Given the description of an element on the screen output the (x, y) to click on. 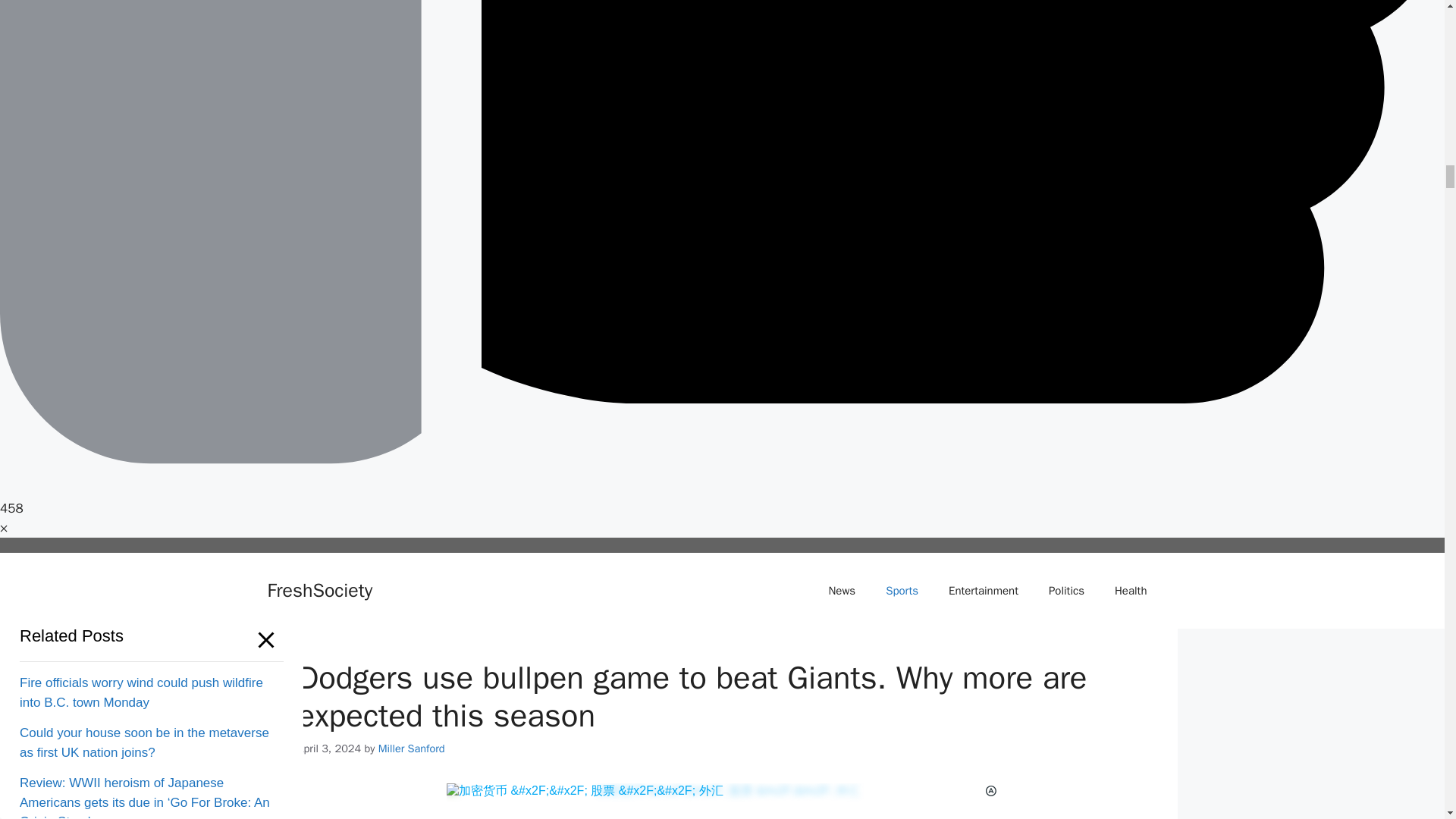
Miller Sanford (411, 748)
Politics (1066, 590)
Sports (901, 590)
View all posts by Miller Sanford (411, 748)
News (841, 590)
Entertainment (983, 590)
Health (1130, 590)
FreshSociety (319, 589)
